Given the description of an element on the screen output the (x, y) to click on. 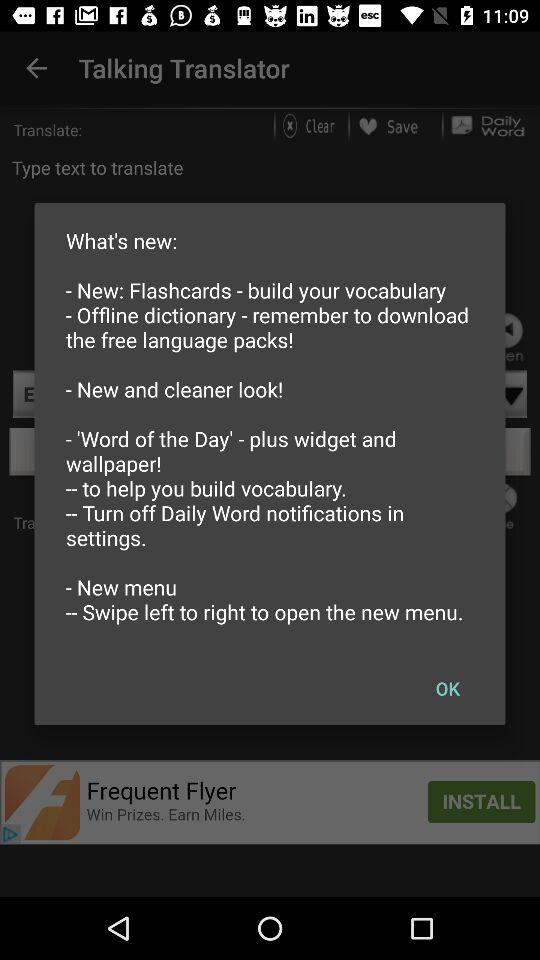
turn off icon below the what s new icon (447, 688)
